Given the description of an element on the screen output the (x, y) to click on. 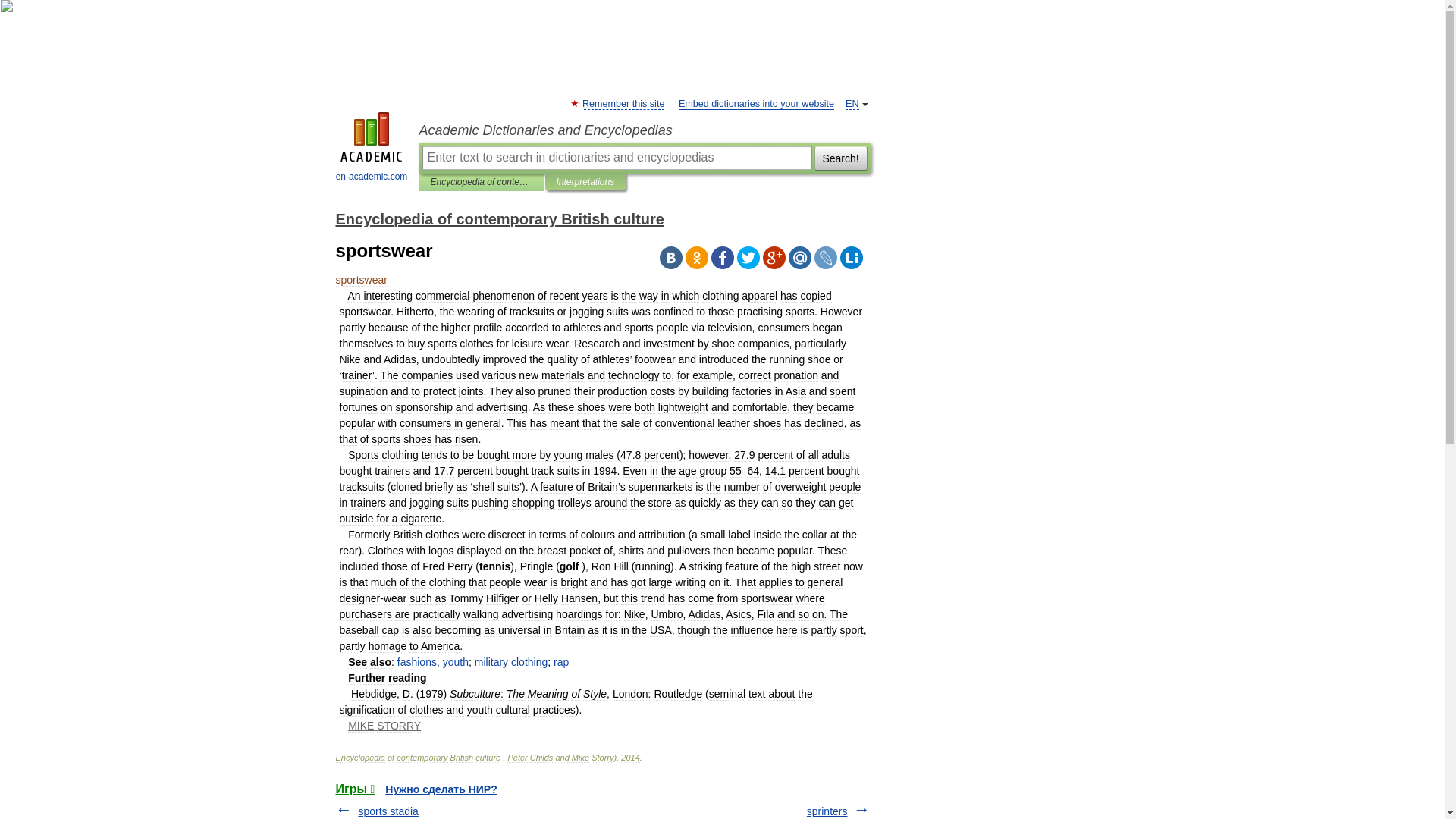
Encyclopedia of contemporary British culture (481, 181)
sprinters (826, 811)
sprinters (826, 811)
Encyclopedia of contemporary British culture (498, 218)
Enter text to search in dictionaries and encyclopedias (616, 157)
military clothing (511, 662)
fashions, youth (432, 662)
en-academic.com (371, 148)
Academic Dictionaries and Encyclopedias (644, 130)
Search! (840, 157)
rap (561, 662)
EN (852, 103)
sports stadia (387, 811)
sports stadia (387, 811)
Embed dictionaries into your website (756, 103)
